Given the description of an element on the screen output the (x, y) to click on. 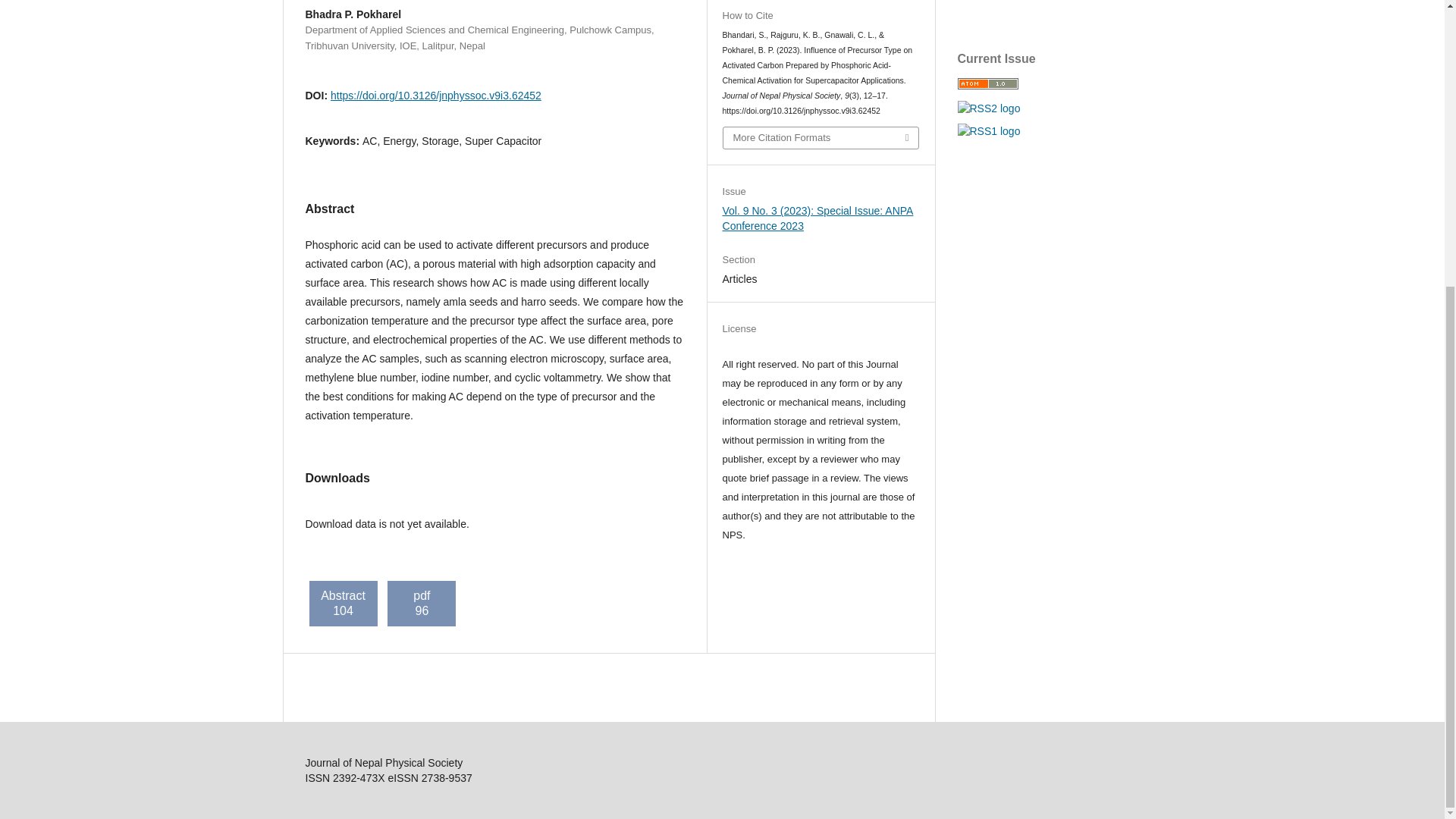
More Citation Formats (820, 137)
